Given the description of an element on the screen output the (x, y) to click on. 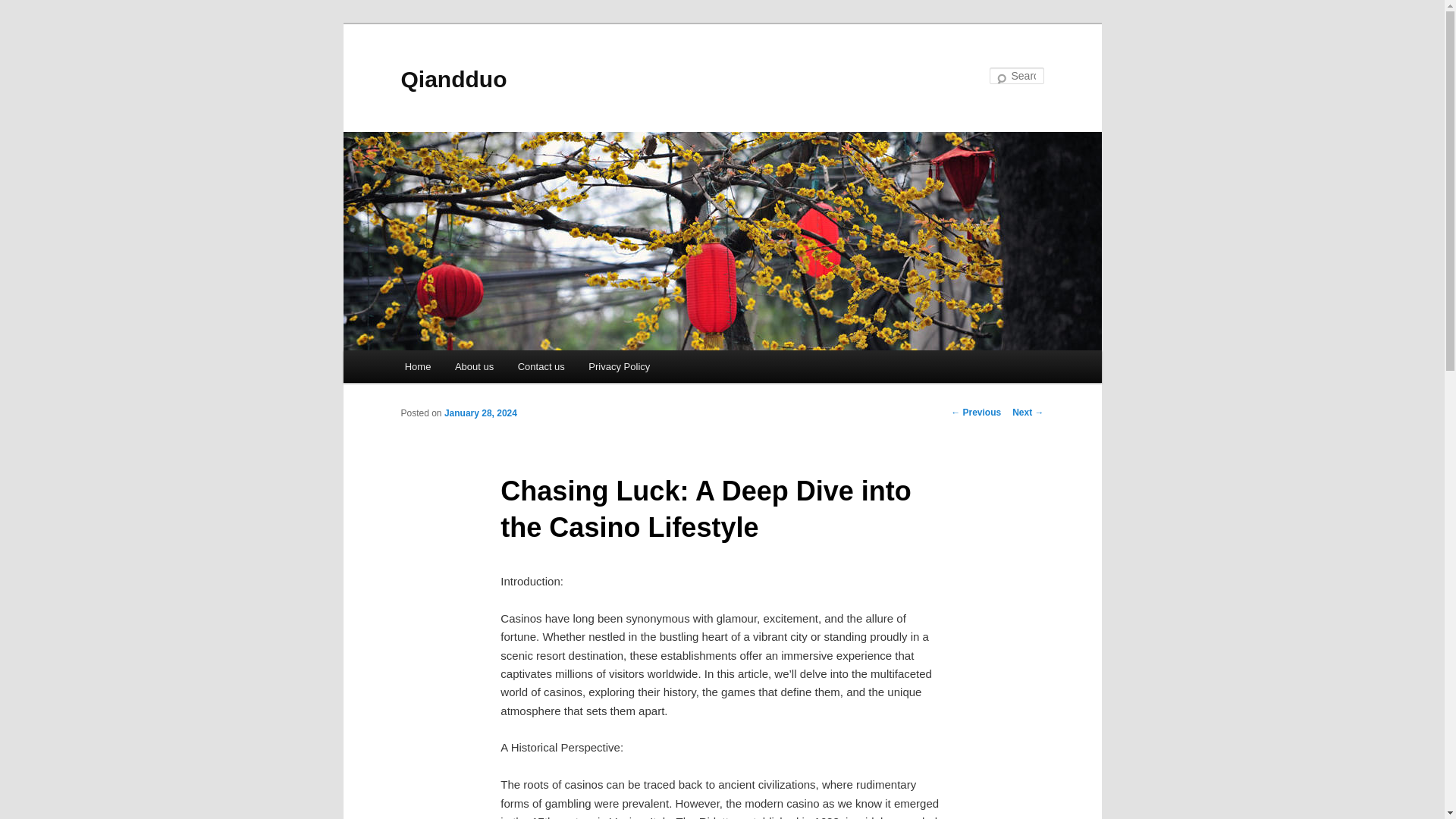
Search (24, 8)
About us (473, 366)
Contact us (540, 366)
Qiandduo (453, 78)
January 28, 2024 (480, 412)
Home (417, 366)
Privacy Policy (619, 366)
7:42 am (480, 412)
